Given the description of an element on the screen output the (x, y) to click on. 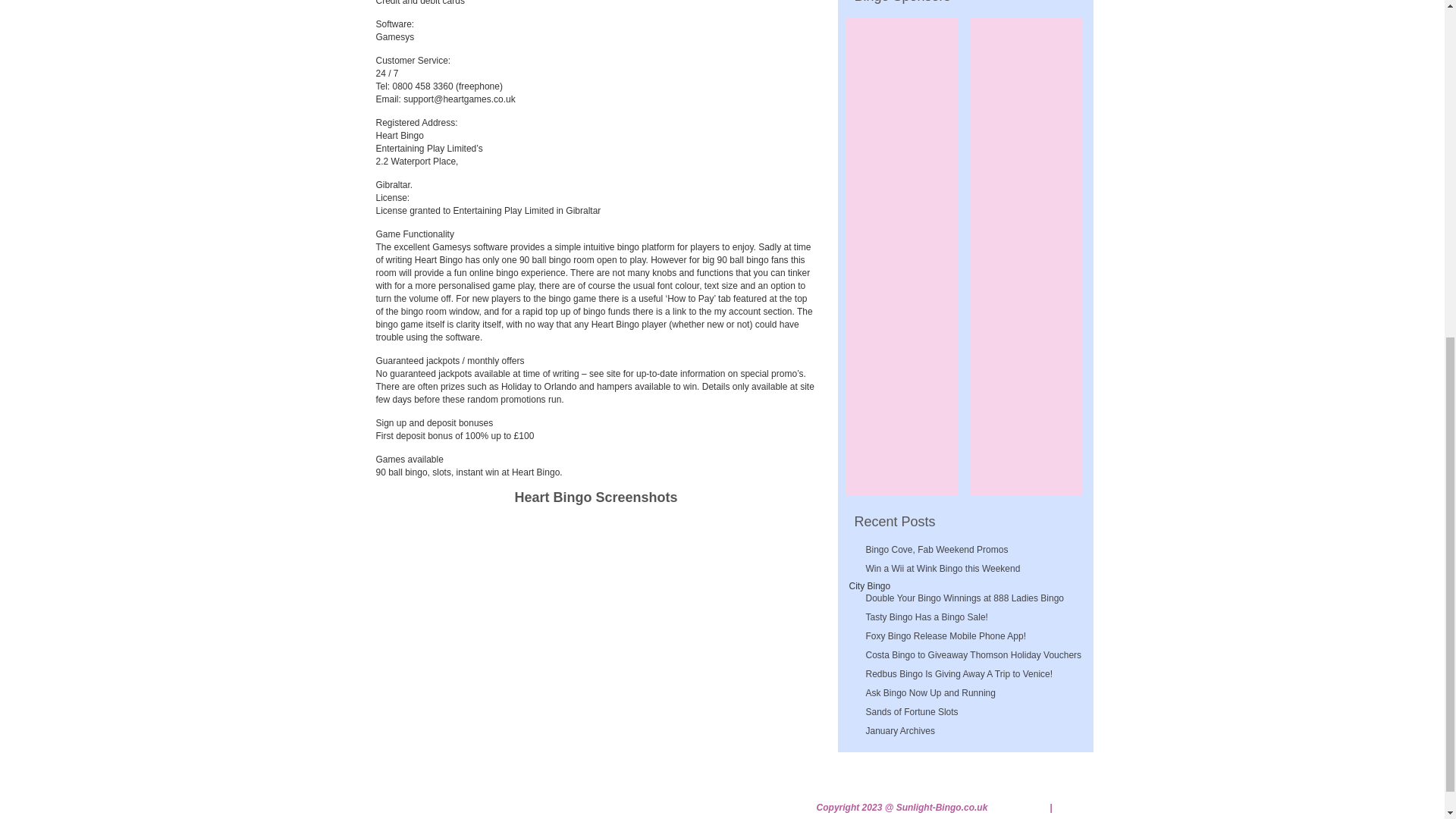
next (785, 613)
Tasty Bingo Has a Bingo Sale! (970, 617)
Costa Bingo to Giveaway Thomson Holiday Vouchers (970, 655)
Foxy Bingo Release Mobile Phone App! (970, 636)
Win a Wii at Wink Bingo this Weekend (970, 568)
Costa Bingo to Giveaway Thomson Holiday Vouchers (970, 655)
Foxy Bingo Release Mobile Phone App! (970, 636)
Ask Bingo Now Up and Running (970, 693)
Bingo Cove, Fab Weekend Promos (970, 549)
January Archives (970, 730)
